Given the description of an element on the screen output the (x, y) to click on. 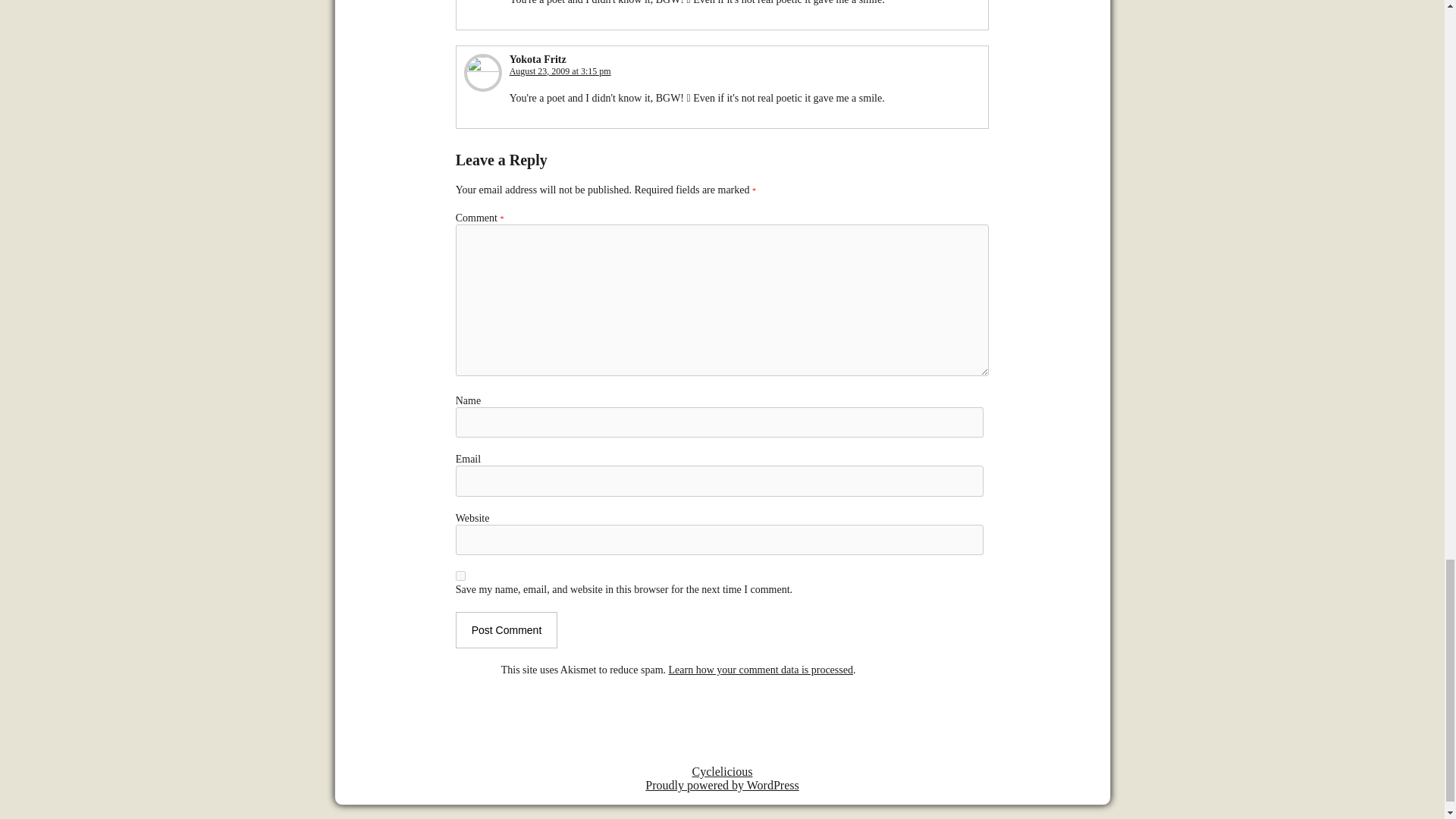
Post Comment (506, 629)
August 23, 2009 at 3:15 pm (560, 71)
Cyclelicious (721, 771)
Proudly powered by WordPress (721, 784)
Post Comment (506, 629)
yes (460, 575)
Learn how your comment data is processed (760, 669)
